Given the description of an element on the screen output the (x, y) to click on. 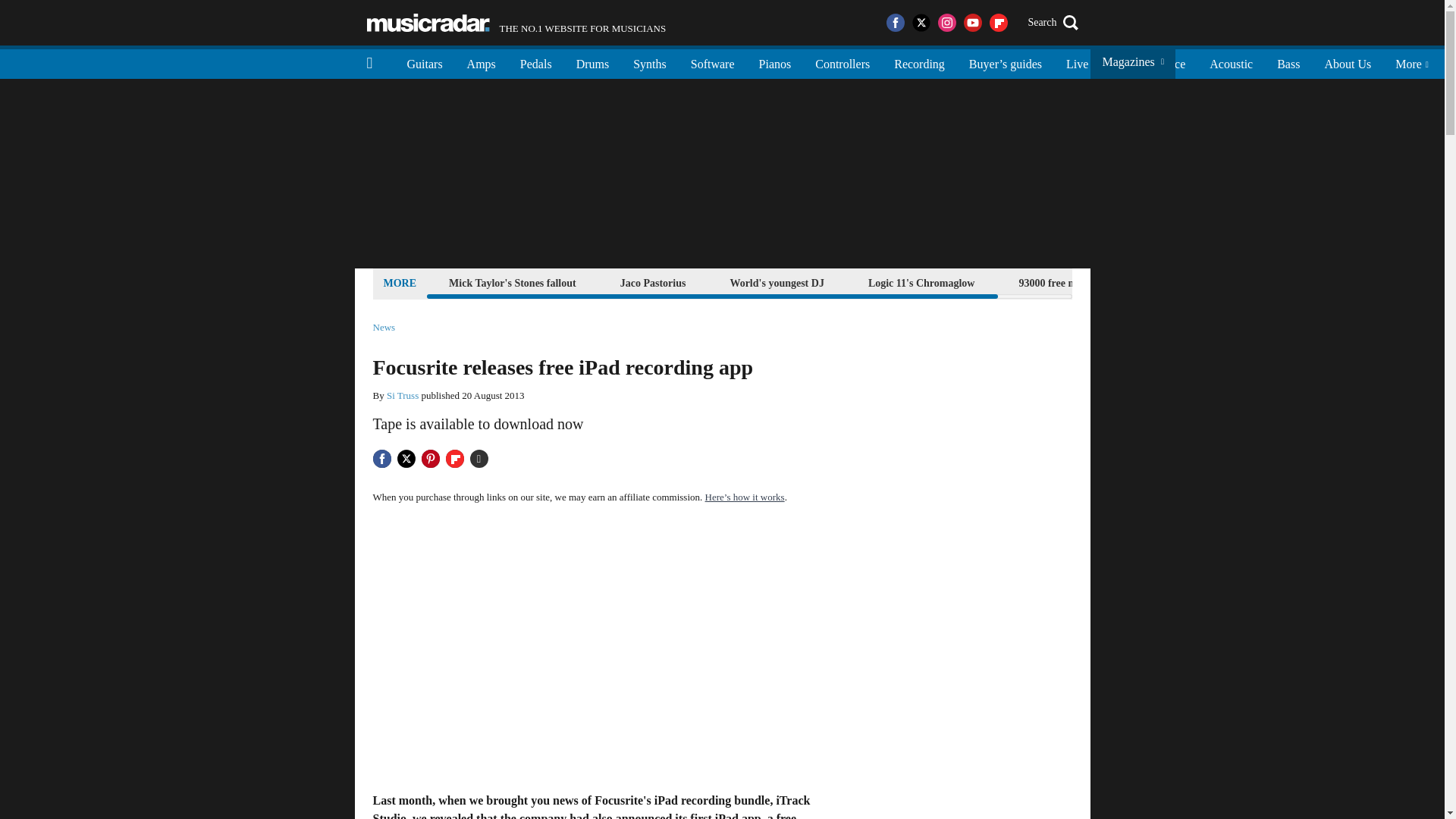
Controllers (842, 61)
Drums (592, 61)
Bass (1288, 61)
Pedals (516, 22)
Jaco Pastorius (536, 61)
Music Radar (652, 282)
Acoustic (427, 22)
Mick Taylor's Stones fallout (1230, 61)
Guitars (512, 282)
93000 free music samples (424, 61)
Logic 11's Chromaglow (1075, 282)
About Us (921, 282)
World's youngest DJ (1347, 61)
Recording (775, 282)
